Given the description of an element on the screen output the (x, y) to click on. 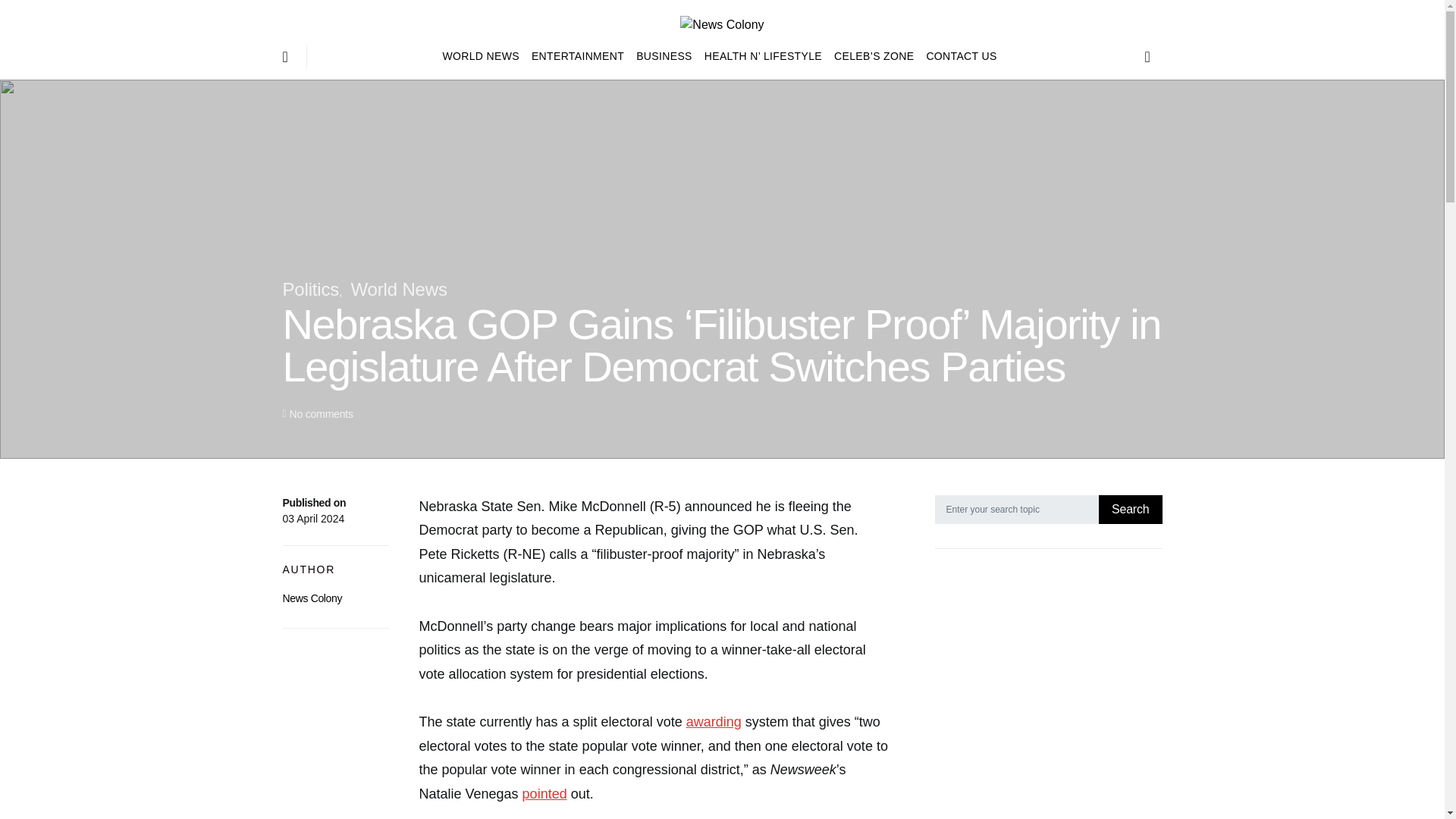
pointed (544, 793)
WORLD NEWS (483, 56)
ENTERTAINMENT (577, 56)
World News (398, 289)
News Colony (312, 598)
BUSINESS (664, 56)
CONTACT US (957, 56)
No comments (320, 414)
awarding (713, 721)
Politics (310, 289)
